Given the description of an element on the screen output the (x, y) to click on. 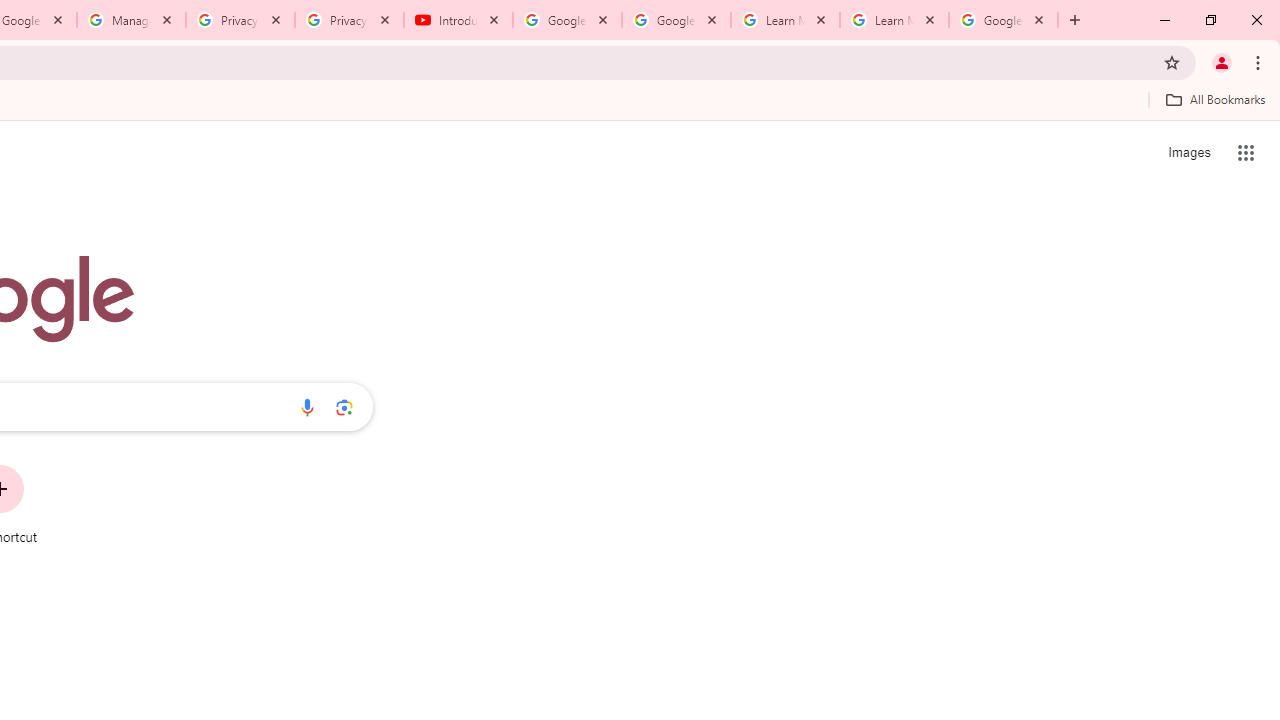
Introduction | Google Privacy Policy - YouTube (458, 20)
Google Account Help (676, 20)
Google Account (1003, 20)
